Given the description of an element on the screen output the (x, y) to click on. 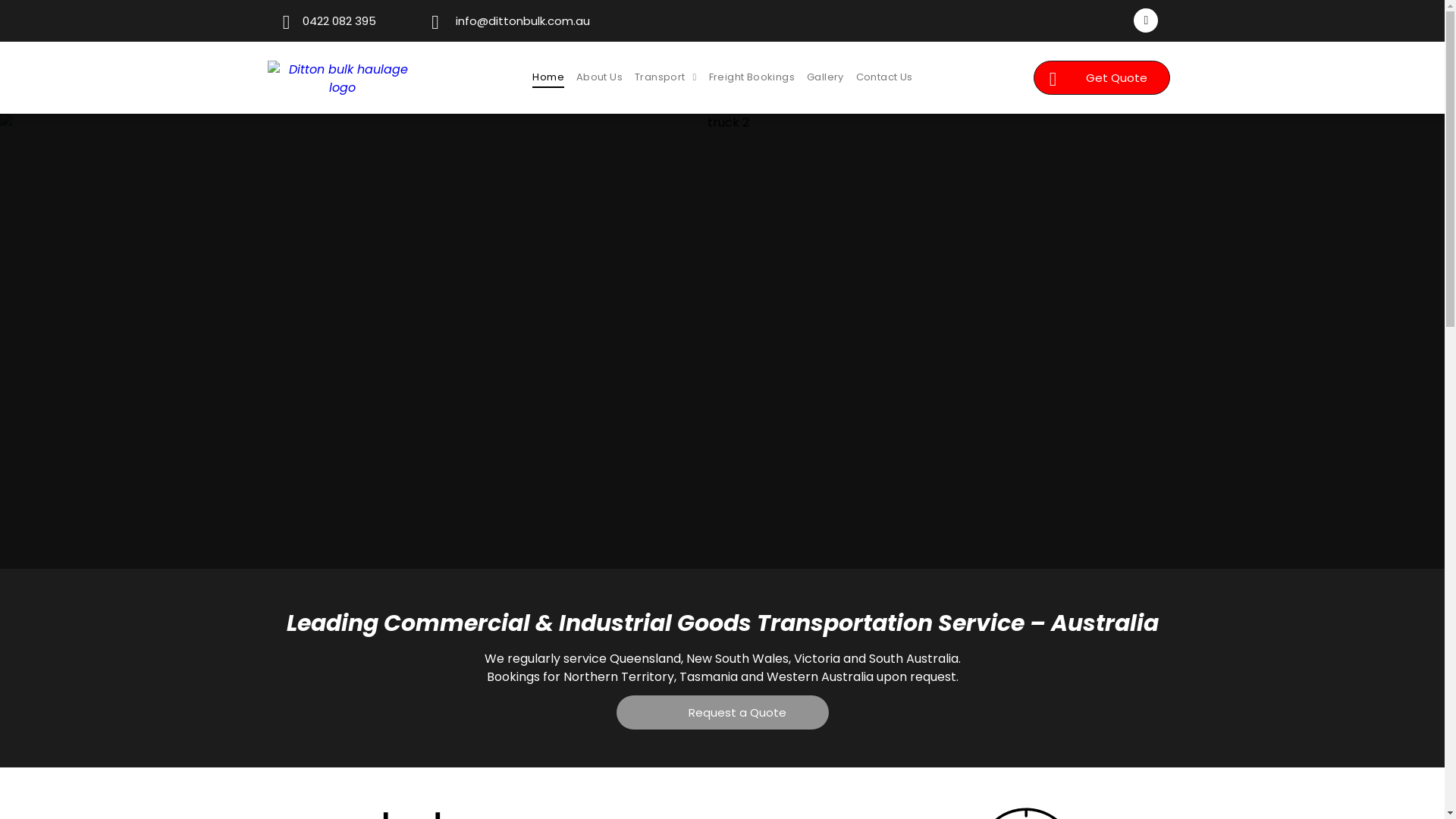
info@dittonbulk.com.au Element type: text (507, 20)
Gallery Element type: text (825, 76)
Home Element type: text (548, 76)
Transport Element type: text (665, 76)
Request a Quote Element type: text (721, 712)
0422 082 395 Element type: text (327, 20)
About Us Element type: text (599, 76)
Get Quote Element type: text (1100, 77)
Freight Bookings Element type: text (751, 76)
Contact Us Element type: text (884, 76)
